Given the description of an element on the screen output the (x, y) to click on. 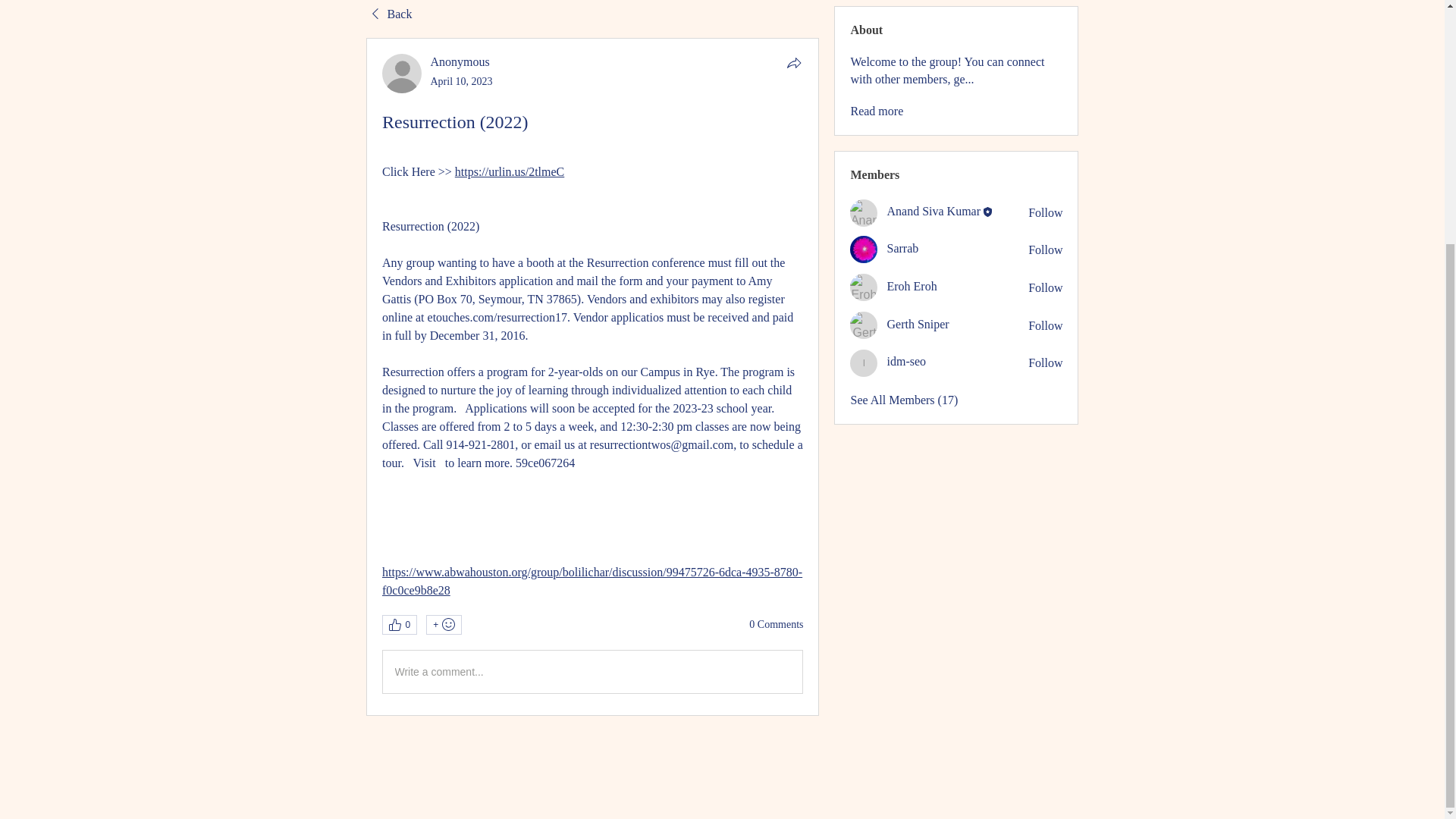
Follow (1044, 249)
Follow (1044, 325)
Follow (1044, 362)
idm-seo (906, 360)
Eroh Eroh (863, 287)
Follow (1044, 212)
Anonymous (459, 61)
Gerth Sniper (863, 325)
0 Comments (776, 624)
Read more (876, 111)
Follow (1044, 288)
Write a comment... (591, 671)
Back (388, 13)
